Given the description of an element on the screen output the (x, y) to click on. 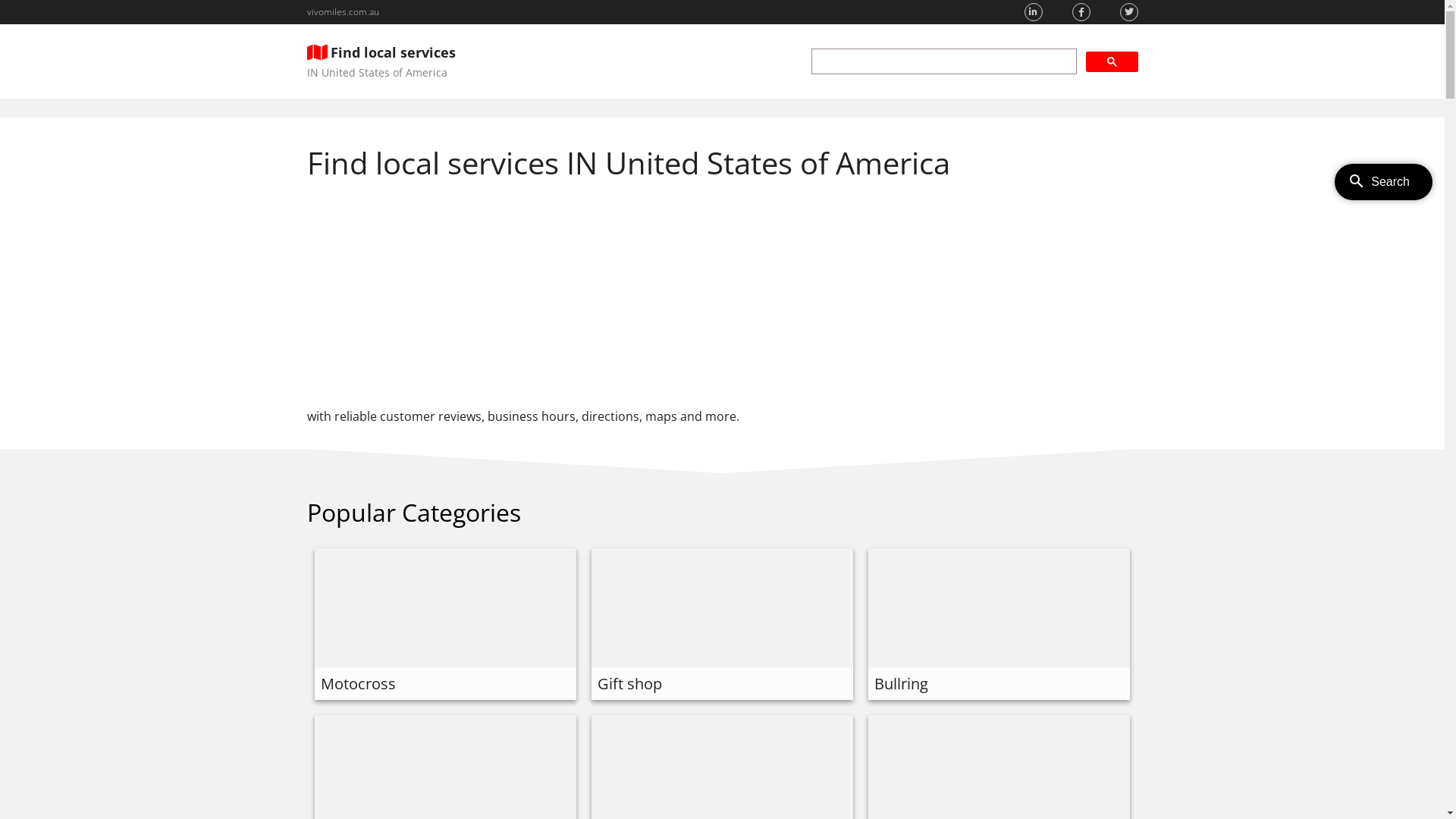
Find local services
IN United States of America Element type: text (380, 61)
Traditional teahouse Element type: text (669, 725)
Advertisement Element type: hover (721, 289)
Weddings Element type: text (908, 725)
Bullring Element type: text (901, 558)
vivomiles.com.au Element type: text (342, 12)
search Element type: hover (943, 61)
Motocross Element type: text (357, 558)
Steel framework contractor Element type: text (416, 725)
Gift shop Element type: text (629, 558)
